Given the description of an element on the screen output the (x, y) to click on. 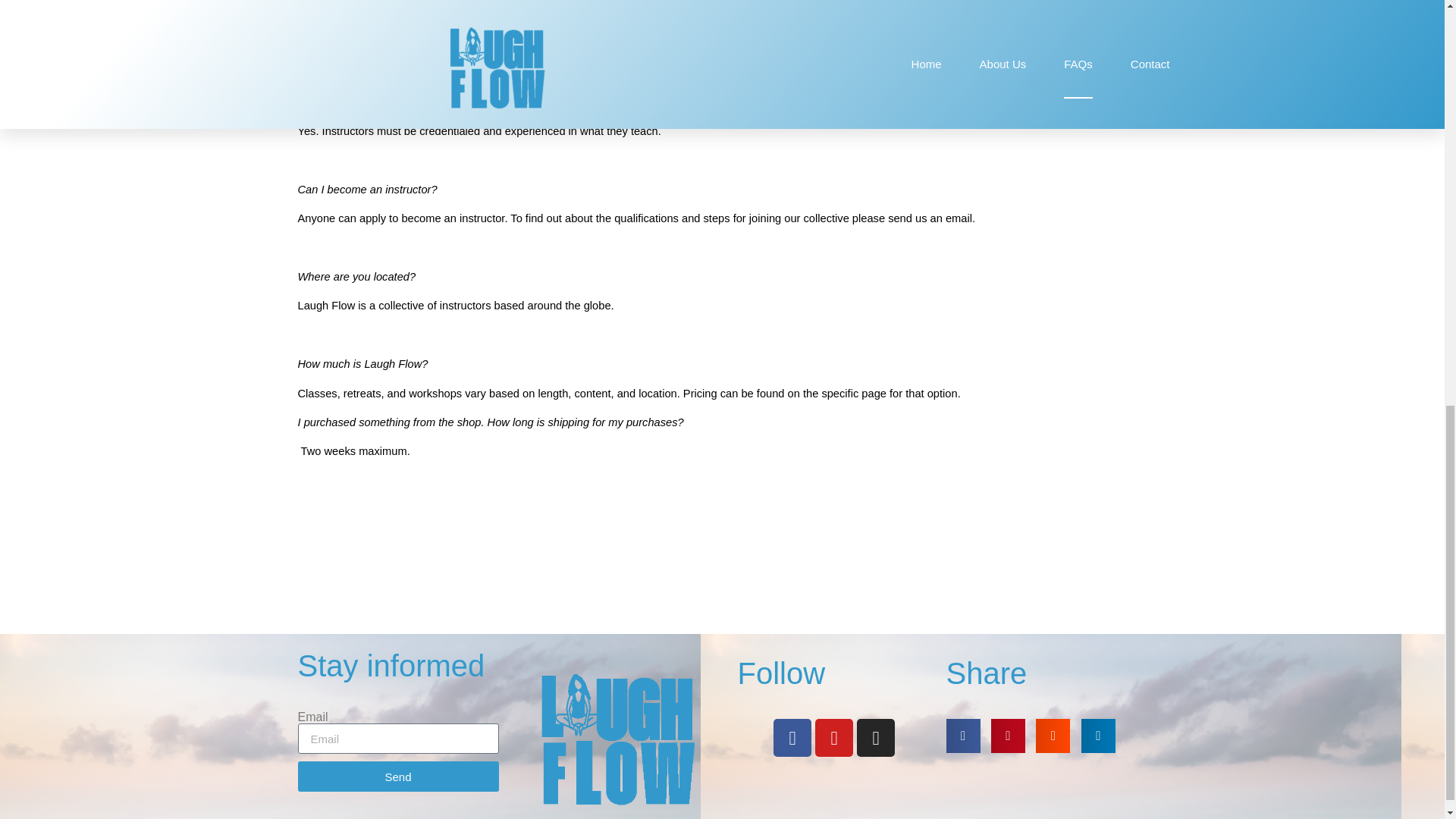
Send (397, 776)
